Given the description of an element on the screen output the (x, y) to click on. 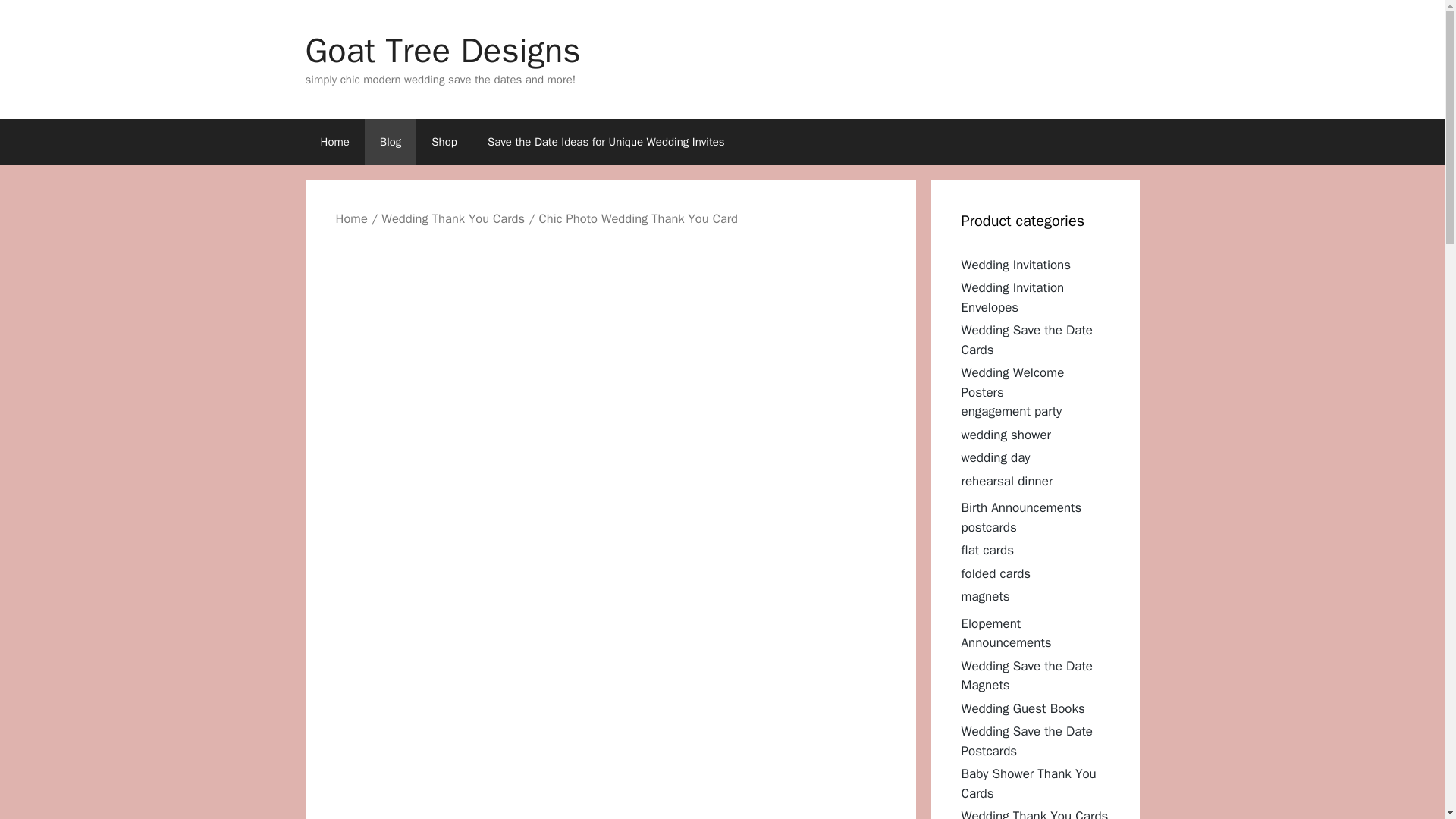
rehearsal dinner (1006, 480)
folded cards (995, 573)
Wedding Invitations (1015, 263)
Wedding Welcome Posters (1012, 382)
wedding day (995, 457)
Wedding Invitation Envelopes (1012, 297)
flat cards (987, 549)
Home (350, 218)
Wedding Save the Date Cards (1026, 339)
Save the Date Ideas for Unique Wedding Invites (605, 140)
